Given the description of an element on the screen output the (x, y) to click on. 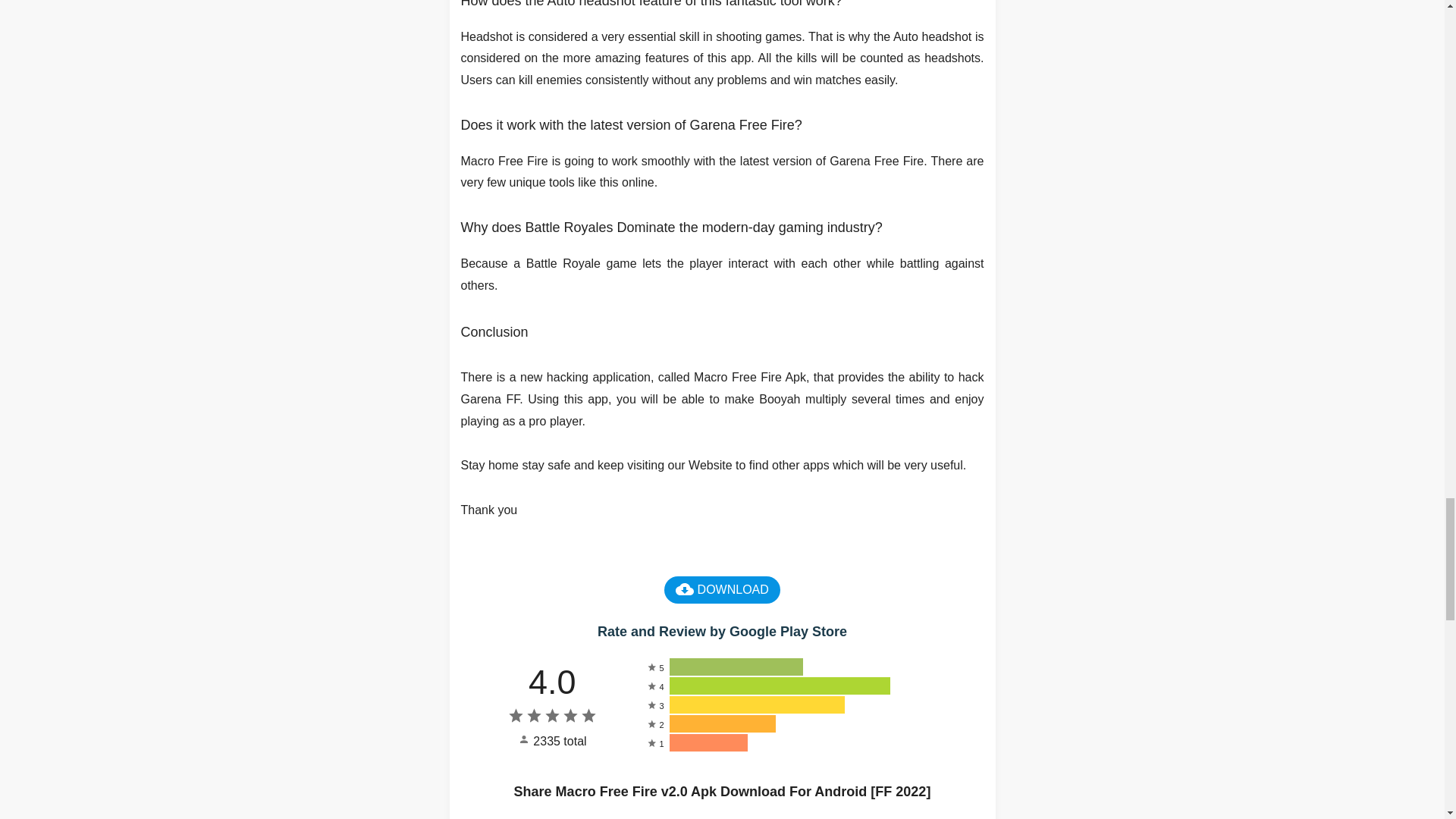
DOWNLOAD (721, 589)
